Given the description of an element on the screen output the (x, y) to click on. 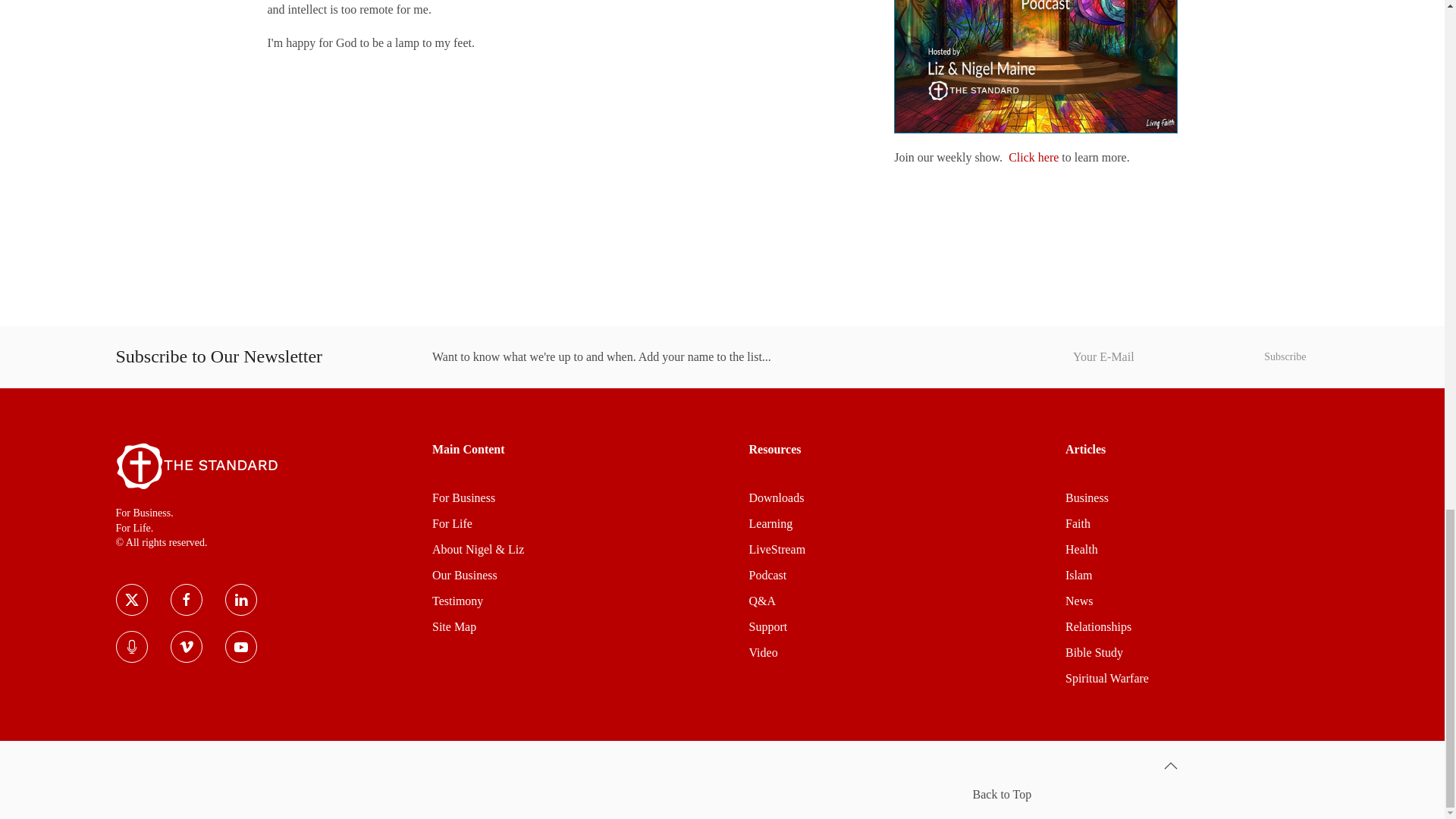
Link to Nigel Maine on YouTube (240, 646)
Visit the Podcast Page (1033, 156)
Link to The Standard on Facebook (186, 599)
Link to The Standard  on Spreaker Podcasts (131, 646)
Back to Top (1169, 765)
Link to the Standard on Vimeo (186, 646)
Link to The Standard on Twitter (131, 599)
Link to The Standard on LinkedIn (240, 599)
